Given the description of an element on the screen output the (x, y) to click on. 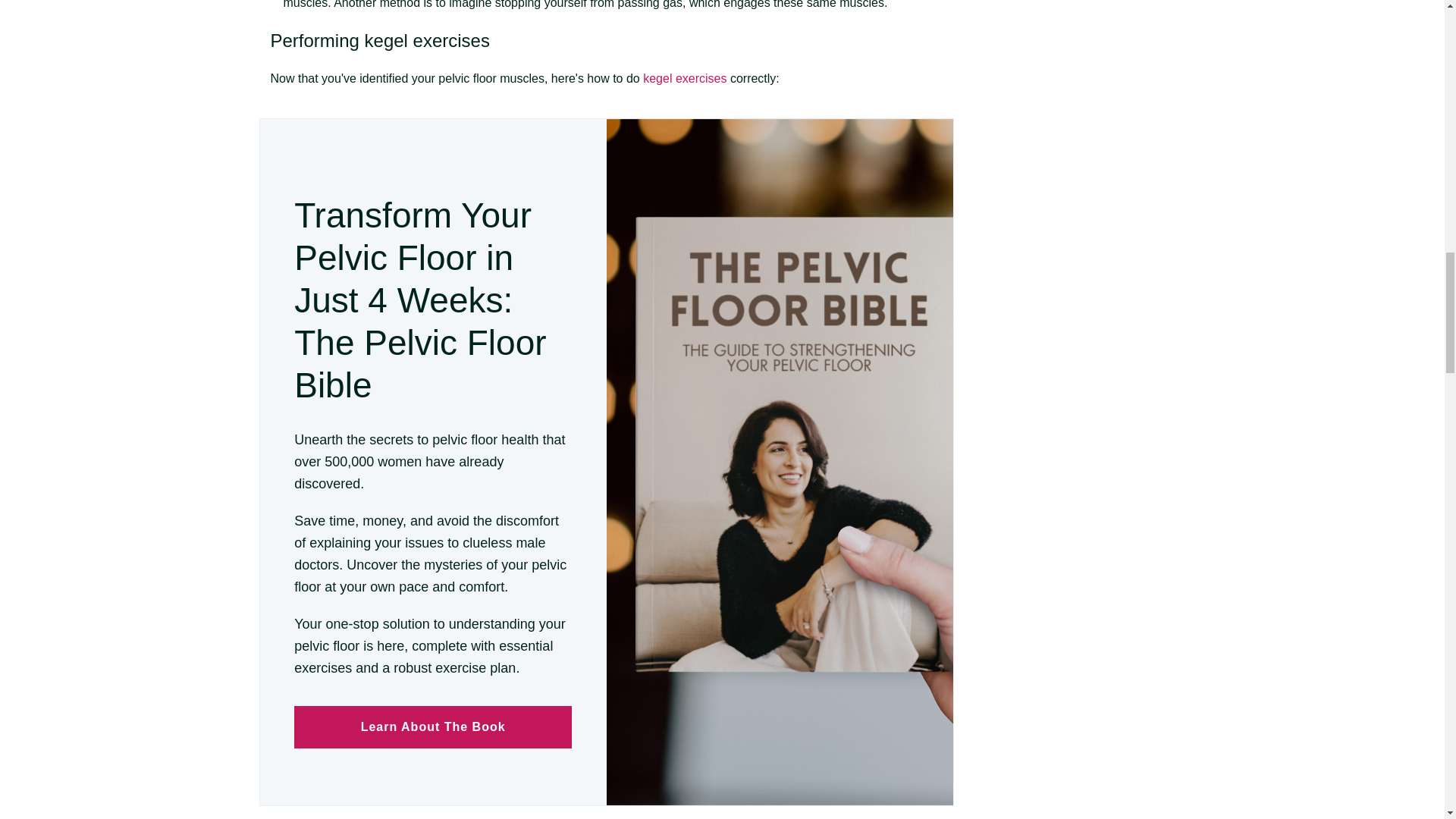
kegel exercises (684, 78)
Learn About The Book (433, 726)
kegel exercises (427, 40)
